Given the description of an element on the screen output the (x, y) to click on. 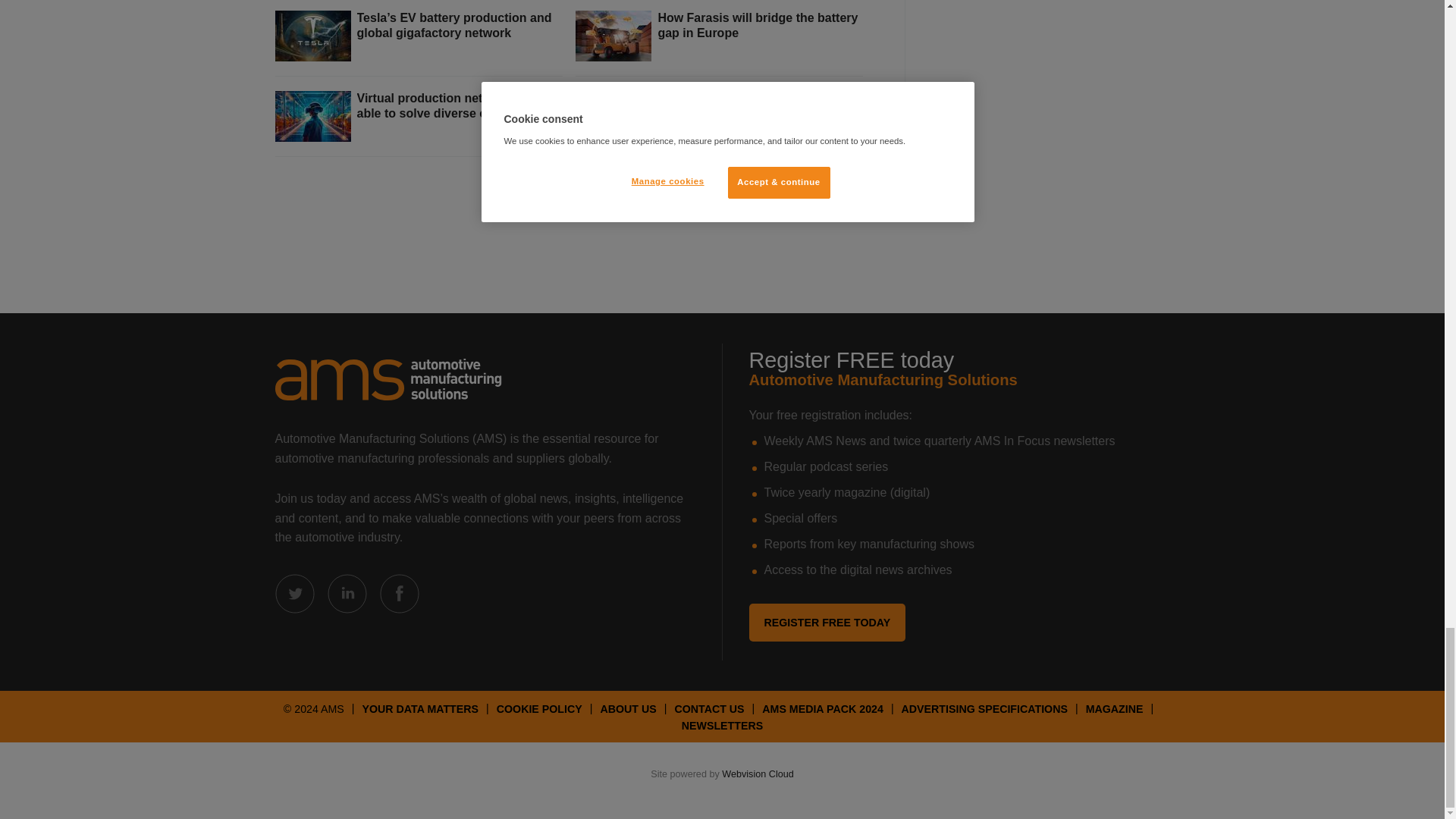
Connect with us on Twitter (294, 593)
Connect with us on Linked In (346, 593)
Connect with us on Facebook (399, 593)
